Given the description of an element on the screen output the (x, y) to click on. 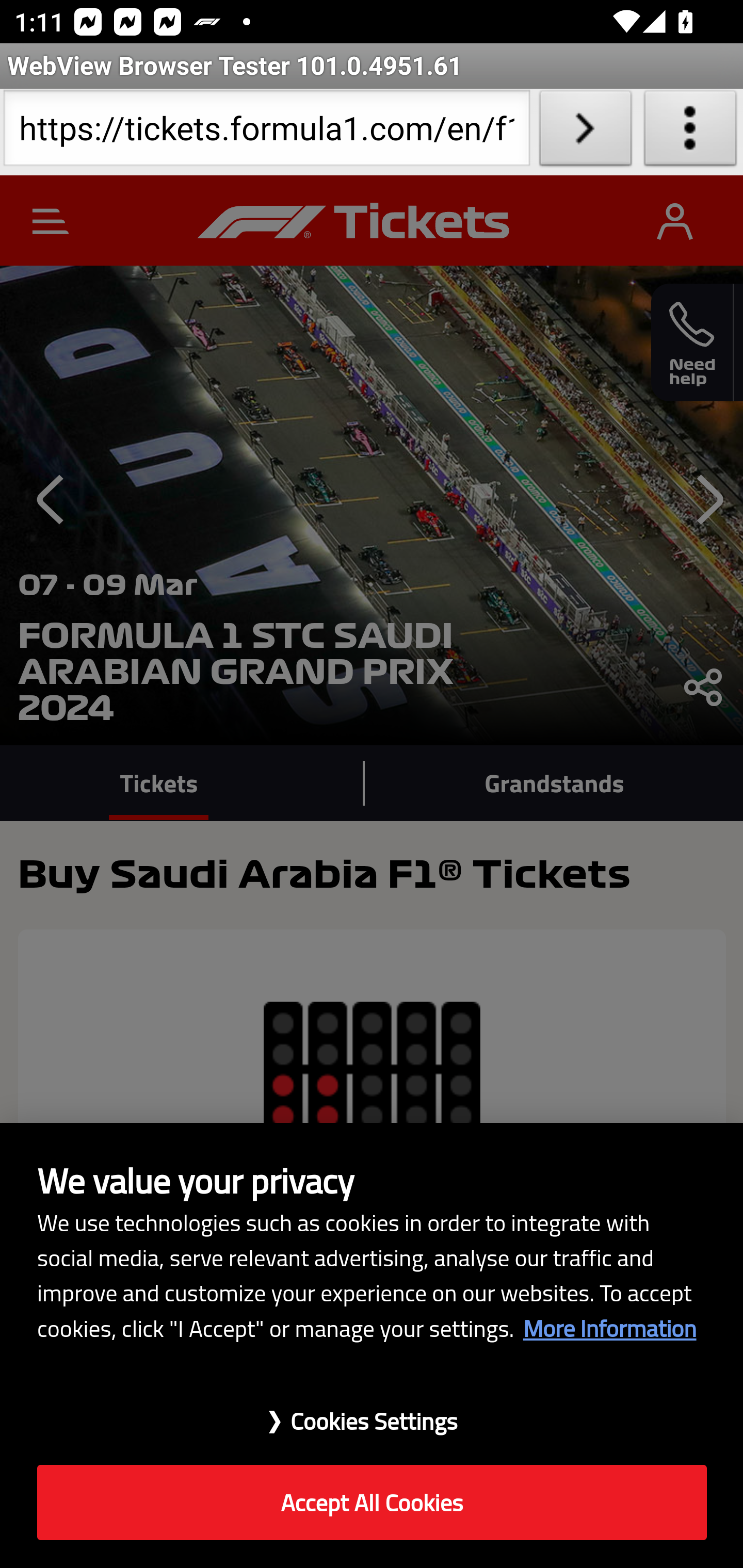
Load URL (585, 132)
About WebView (690, 132)
More Information (608, 1327)
❯Cookies Settings (372, 1411)
Accept All Cookies (372, 1502)
